Given the description of an element on the screen output the (x, y) to click on. 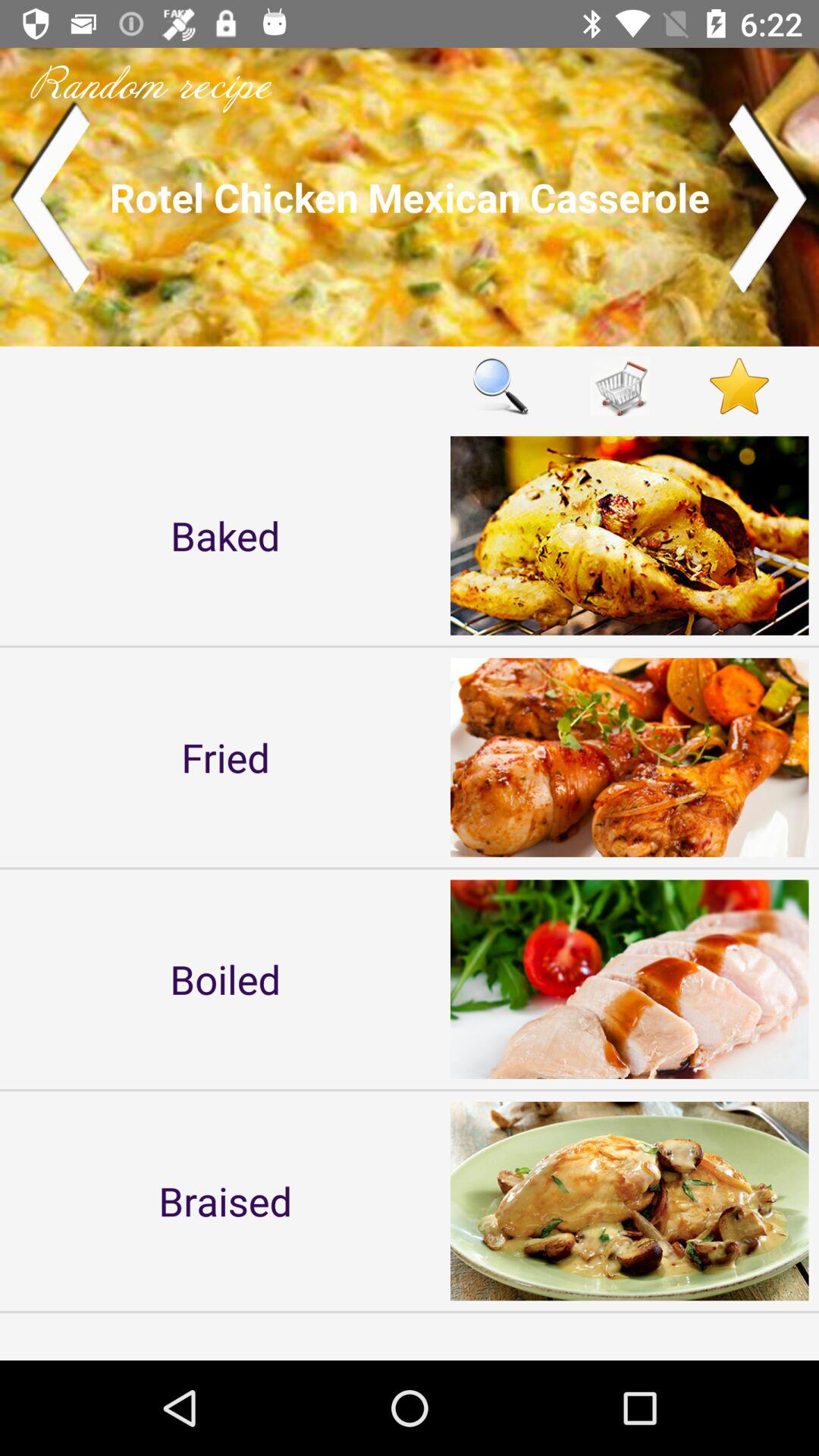
click item next to the baked item (500, 385)
